Given the description of an element on the screen output the (x, y) to click on. 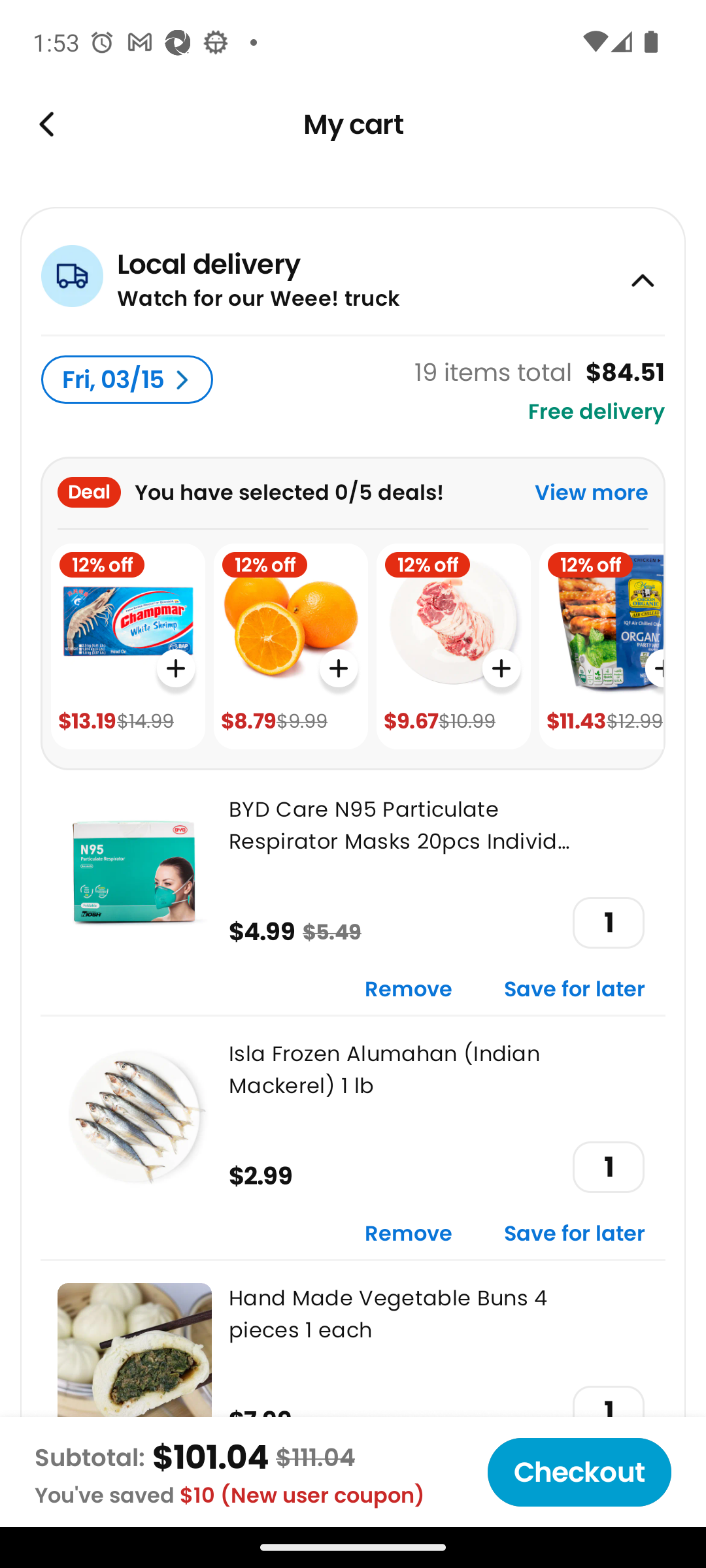
Local delivery Watch for our Weee! truck (352, 269)
Fri, 03/15 (126, 379)
12% off $13.19 $14.99 (127, 646)
12% off $8.79 $9.99 (290, 646)
12% off $9.67 $10.99 (453, 646)
12% off $11.43 $12.99 (601, 646)
1 (608, 922)
Remove (408, 989)
Save for later (574, 989)
1 (608, 1167)
Remove (408, 1234)
Save for later (574, 1234)
Checkout (579, 1471)
